Given the description of an element on the screen output the (x, y) to click on. 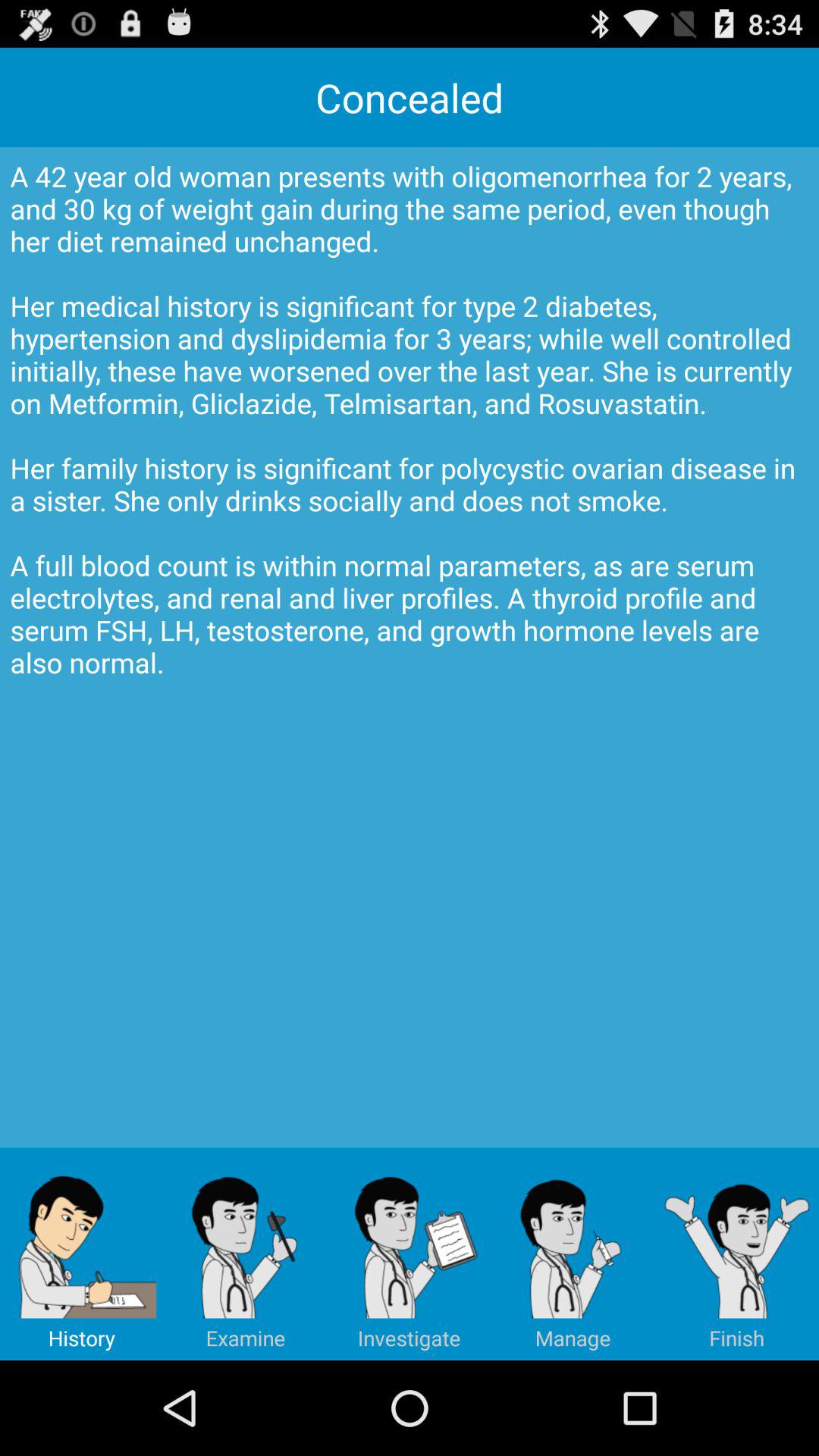
turn on a 42 year at the center (409, 647)
